Given the description of an element on the screen output the (x, y) to click on. 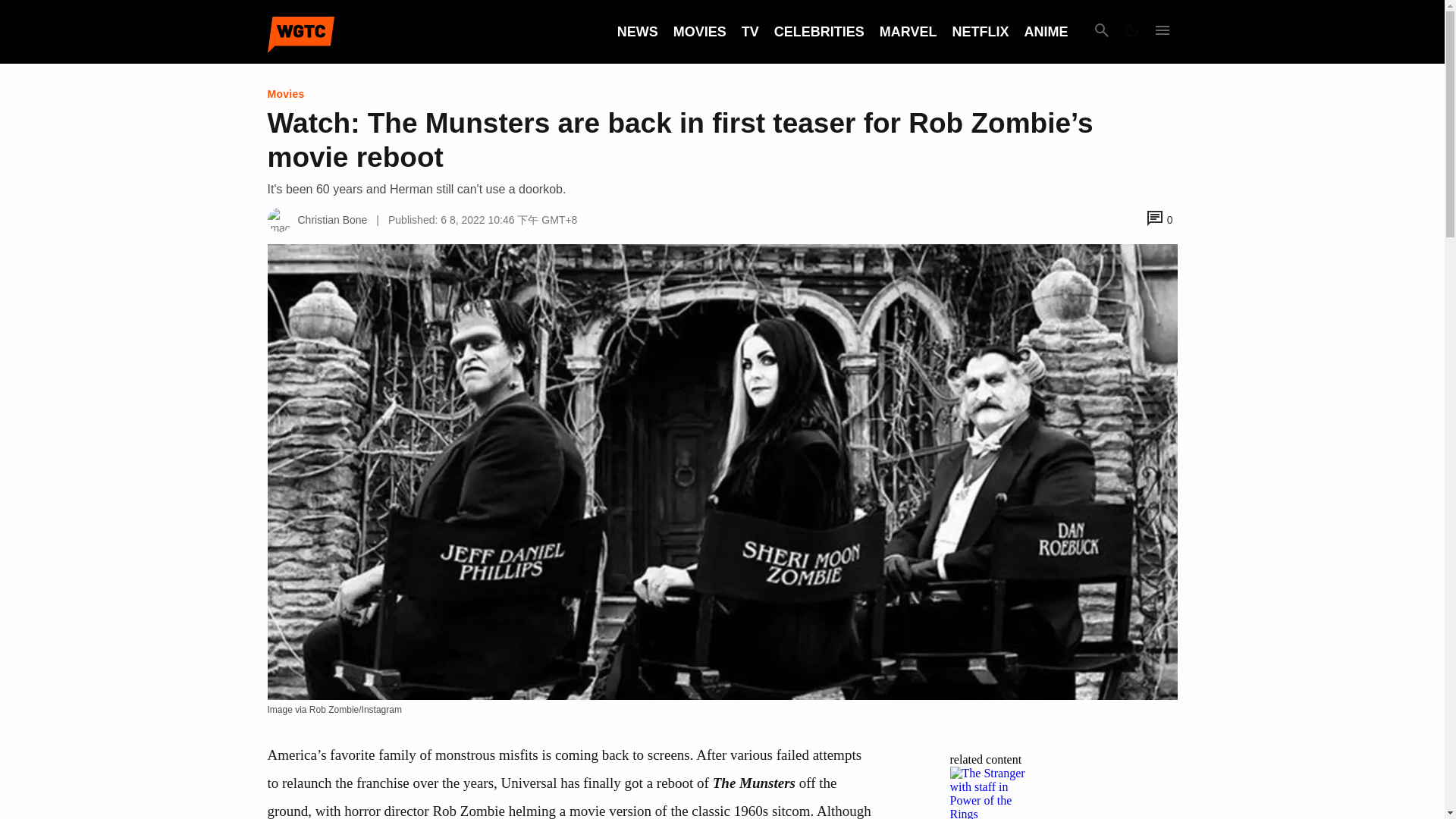
ANIME (1045, 31)
NETFLIX (980, 31)
TV (749, 31)
MARVEL (908, 31)
Expand Menu (1161, 31)
Search (1101, 31)
MOVIES (699, 31)
Dark Mode (1131, 31)
CELEBRITIES (819, 31)
NEWS (637, 31)
